Given the description of an element on the screen output the (x, y) to click on. 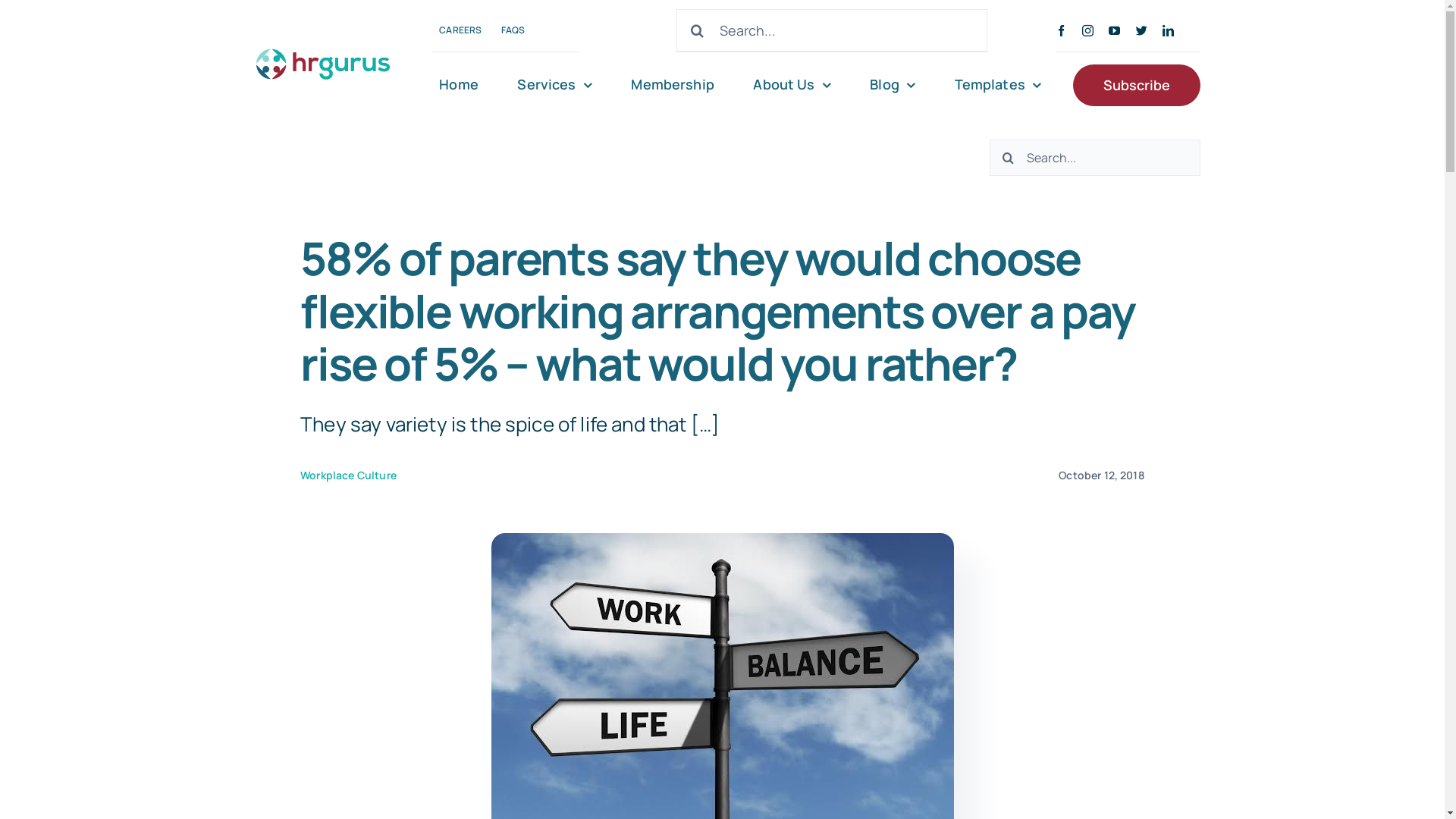
About Us Element type: text (791, 85)
Home Element type: text (458, 85)
Workplace Culture Element type: text (348, 474)
Membership Element type: text (672, 85)
Subscribe Element type: text (1136, 85)
CAREERS Element type: text (460, 30)
FAQS Element type: text (512, 30)
Templates Element type: text (997, 85)
Services Element type: text (554, 85)
Blog Element type: text (892, 85)
